Given the description of an element on the screen output the (x, y) to click on. 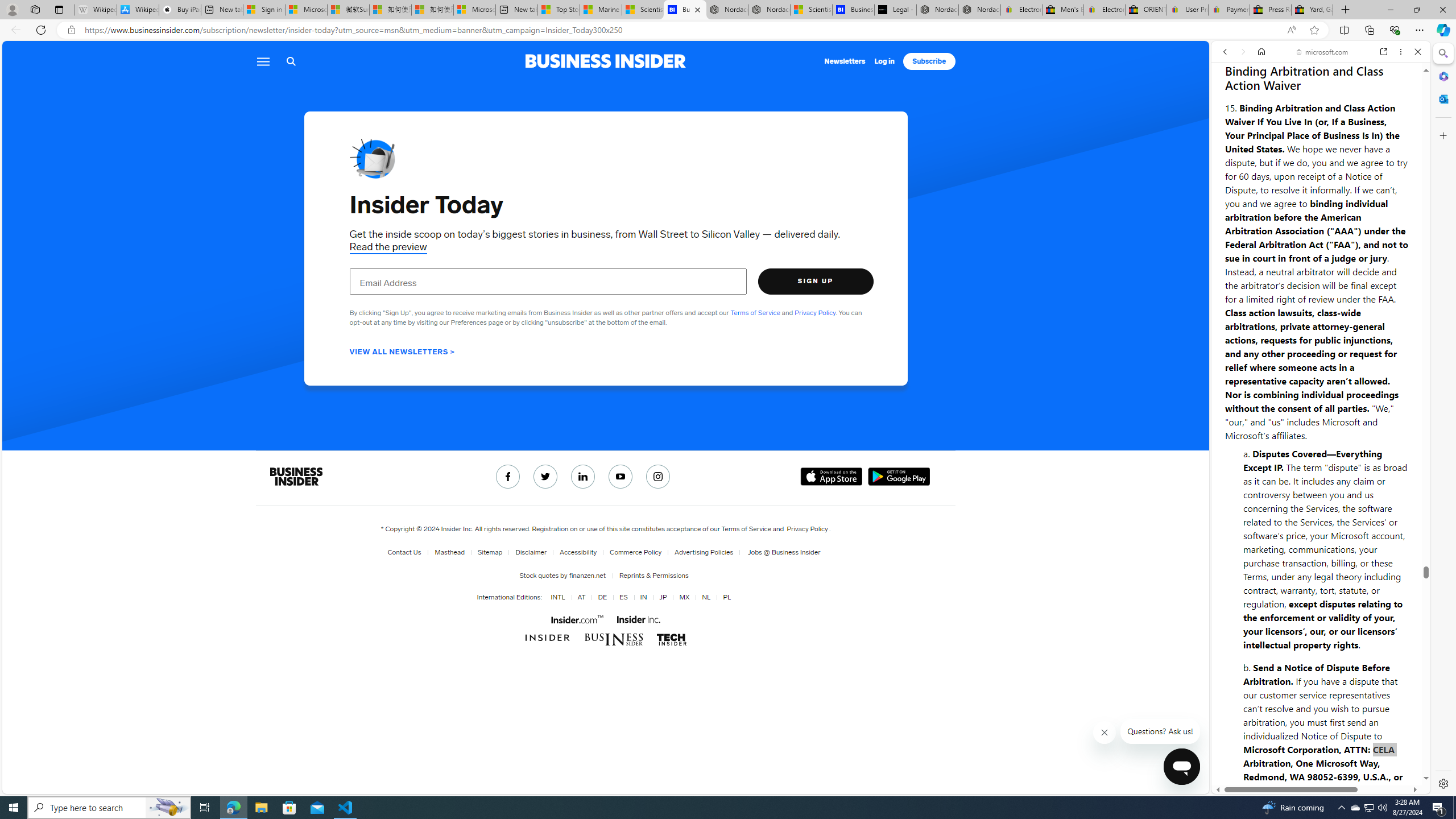
Contact Us (403, 552)
Email address (547, 280)
Sitemap (489, 552)
Accessibility (575, 552)
Insider (547, 637)
Business Insider logo (605, 60)
